Given the description of an element on the screen output the (x, y) to click on. 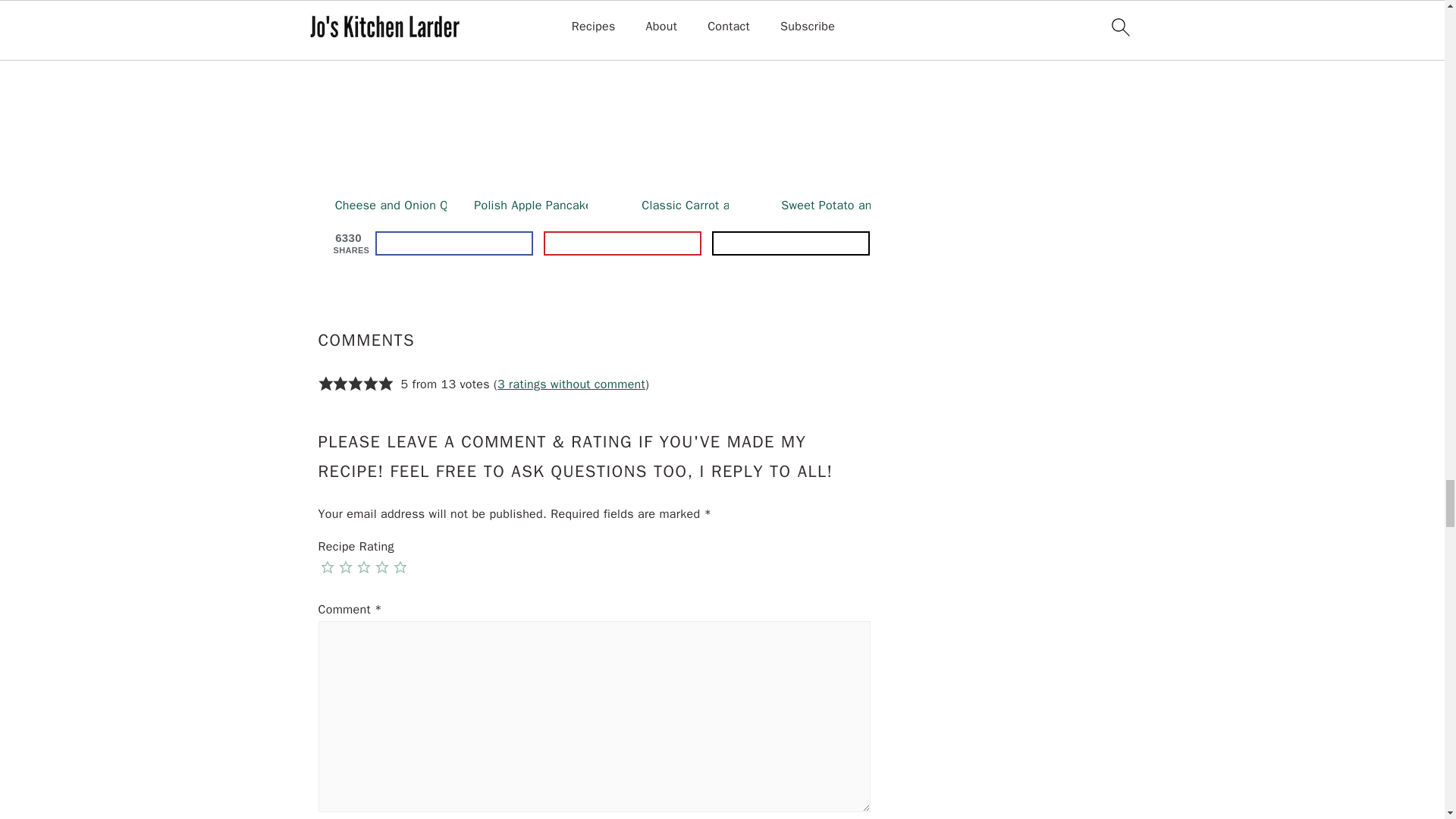
Share on Facebook (453, 242)
Share on X (790, 242)
Save to Pinterest (622, 242)
